Given the description of an element on the screen output the (x, y) to click on. 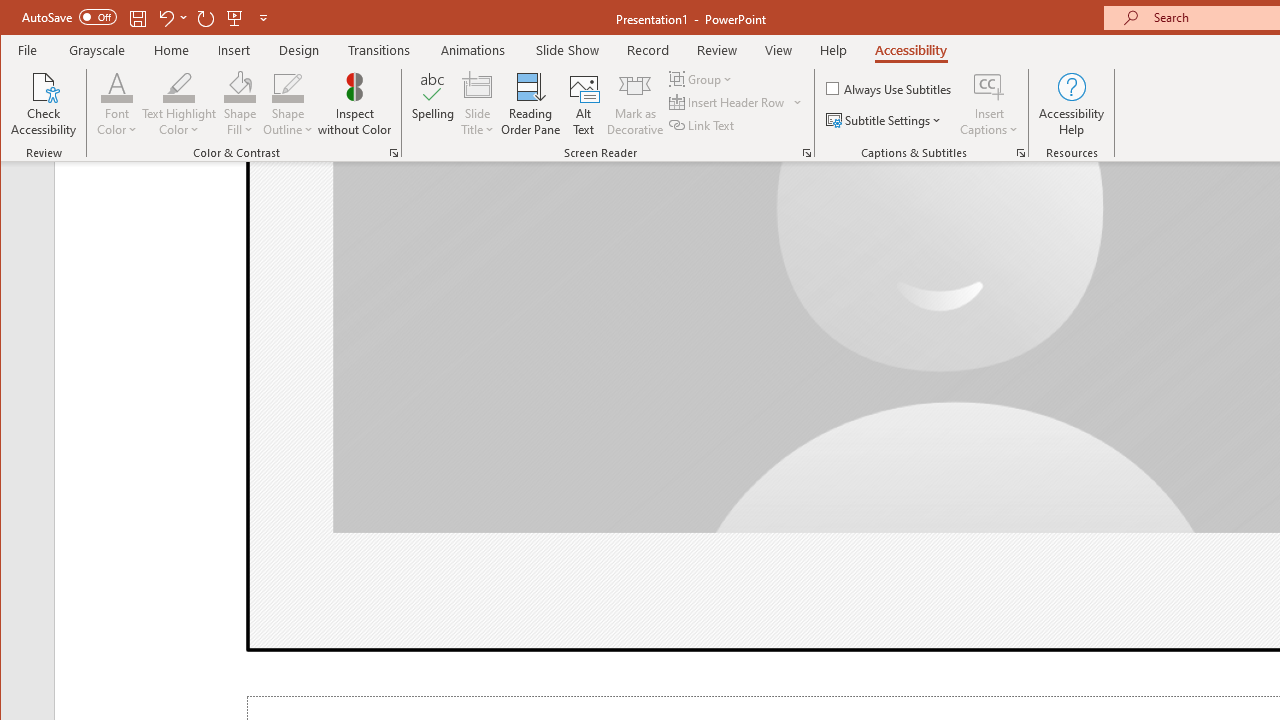
Color & Contrast (393, 152)
Inspect without Color (355, 104)
